Given the description of an element on the screen output the (x, y) to click on. 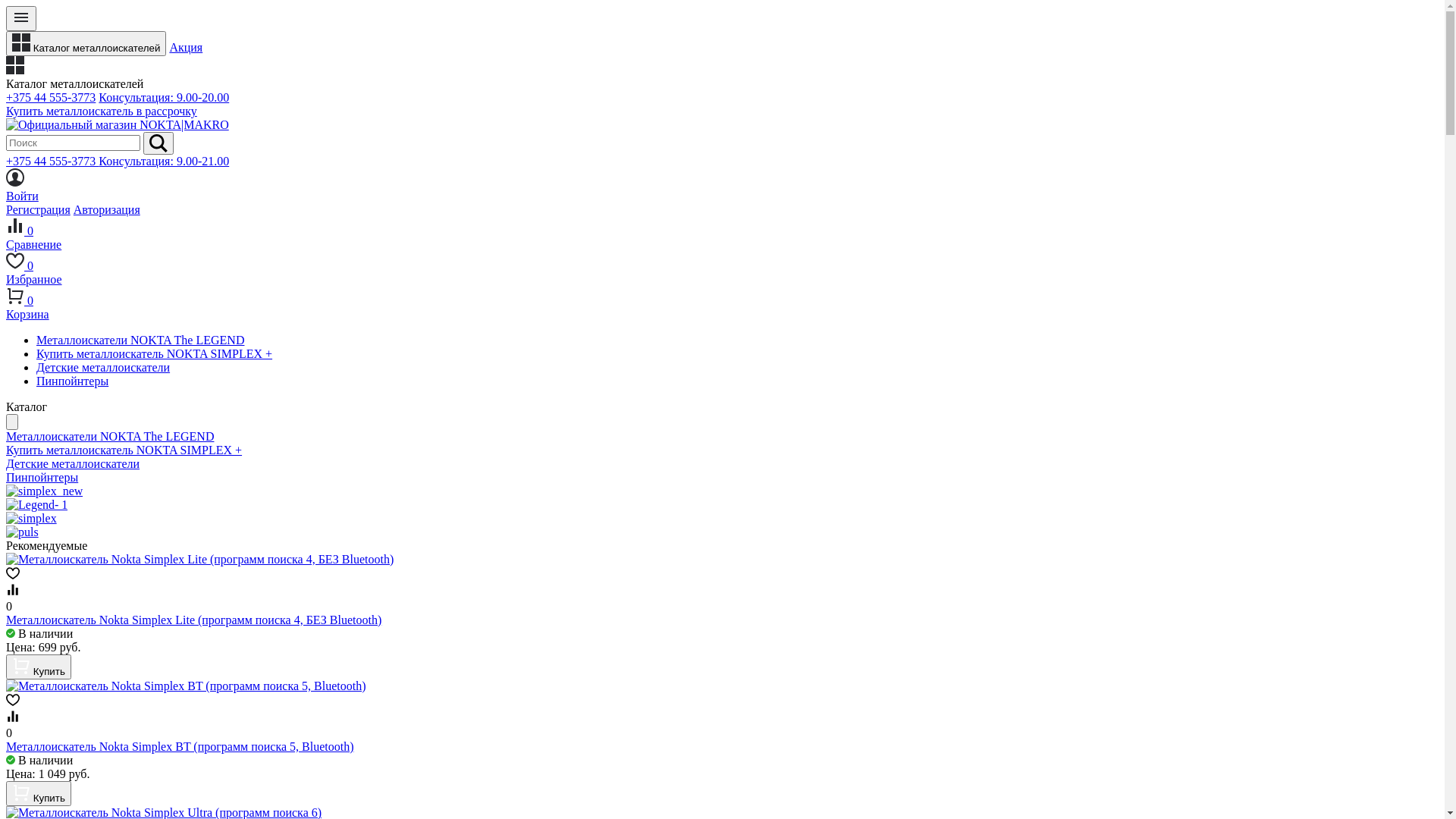
+375 44 555-3773 Element type: text (50, 97)
